Given the description of an element on the screen output the (x, y) to click on. 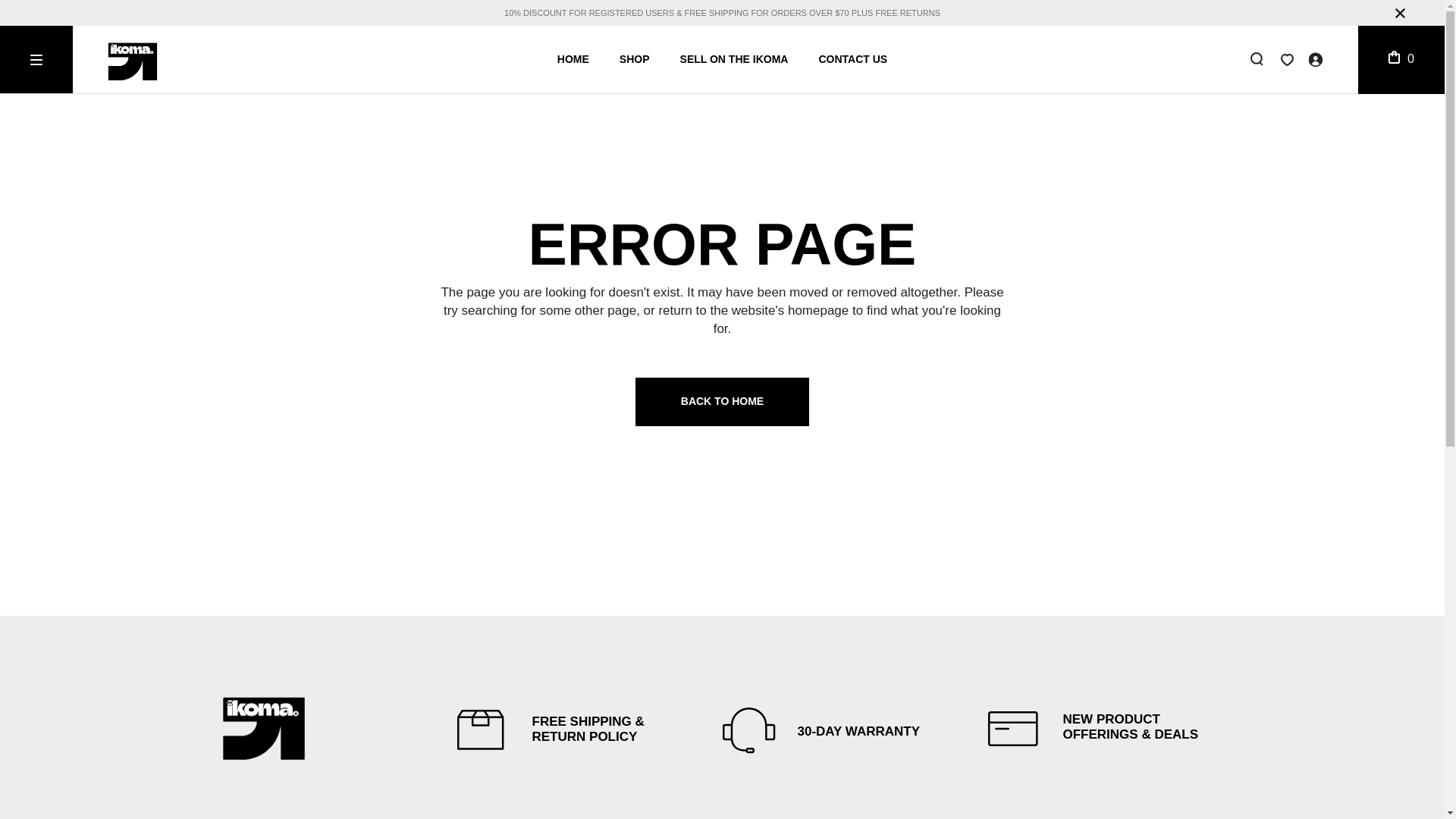
CONTACT US (852, 59)
BACK TO HOME (721, 401)
SELL ON THE IKOMA (734, 59)
0 (1401, 59)
